Given the description of an element on the screen output the (x, y) to click on. 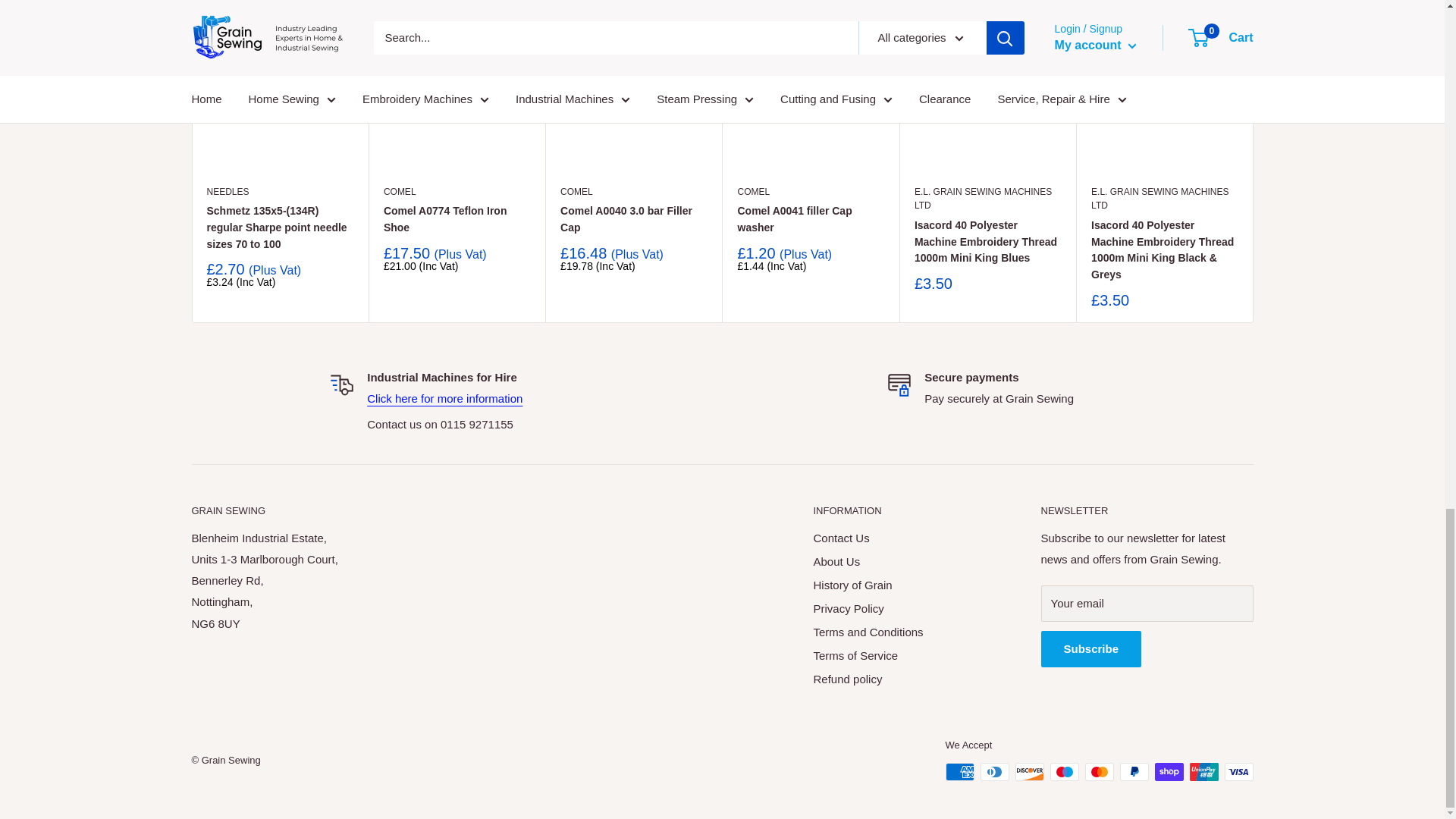
Industrial Hire Machines (444, 398)
